Given the description of an element on the screen output the (x, y) to click on. 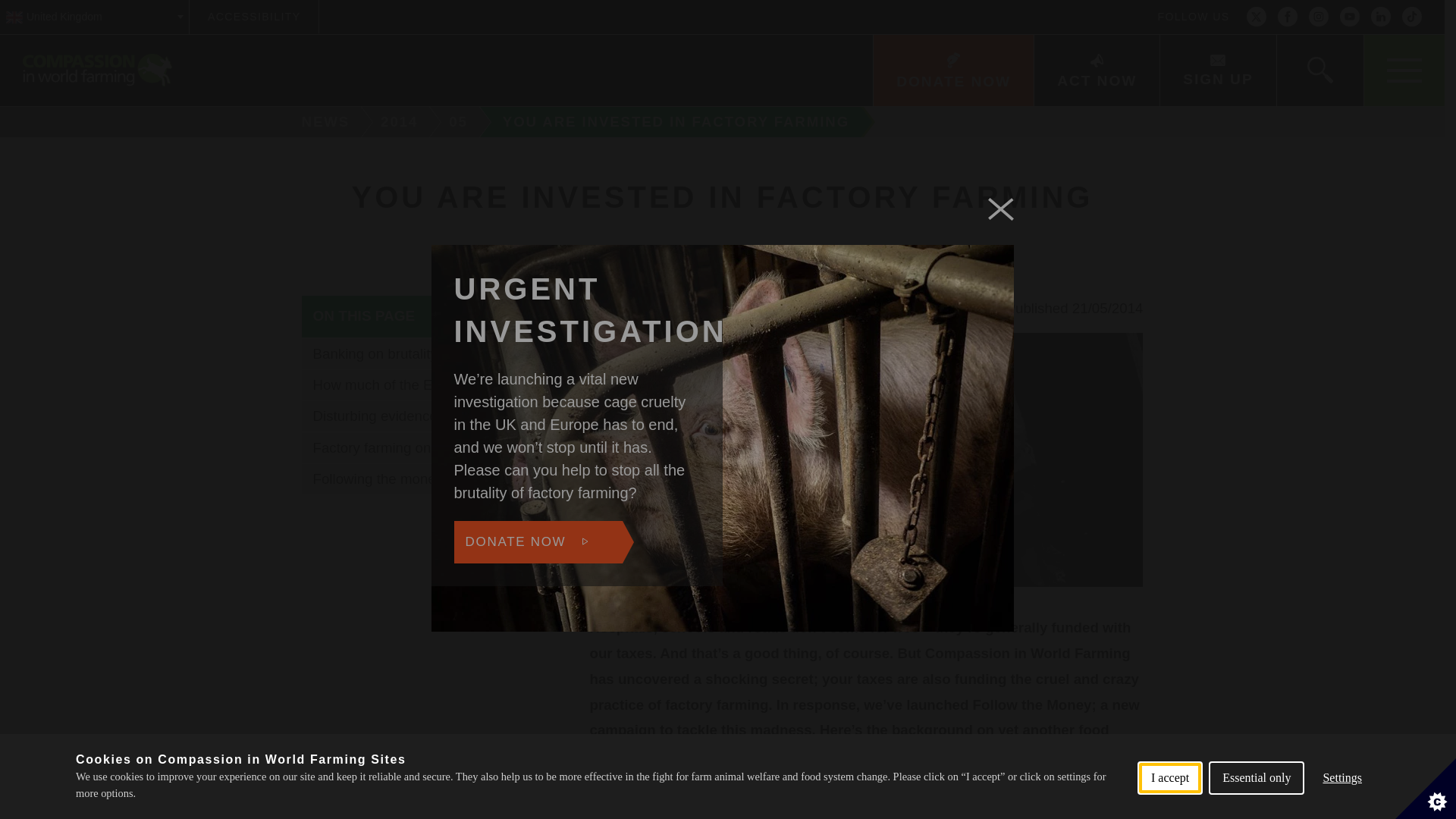
Instagram (1318, 16)
ACCESSIBILITY (253, 16)
TikTok (1412, 16)
ACT NOW (1095, 70)
Skip to Content (778, 1)
DONATE NOW (952, 70)
05 (460, 122)
YouTube (1350, 16)
Settings (1342, 802)
I accept (1169, 811)
2014 (401, 122)
Facebook (1287, 16)
NEWS (320, 122)
Twitter (1255, 16)
Essential only (1256, 808)
